Given the description of an element on the screen output the (x, y) to click on. 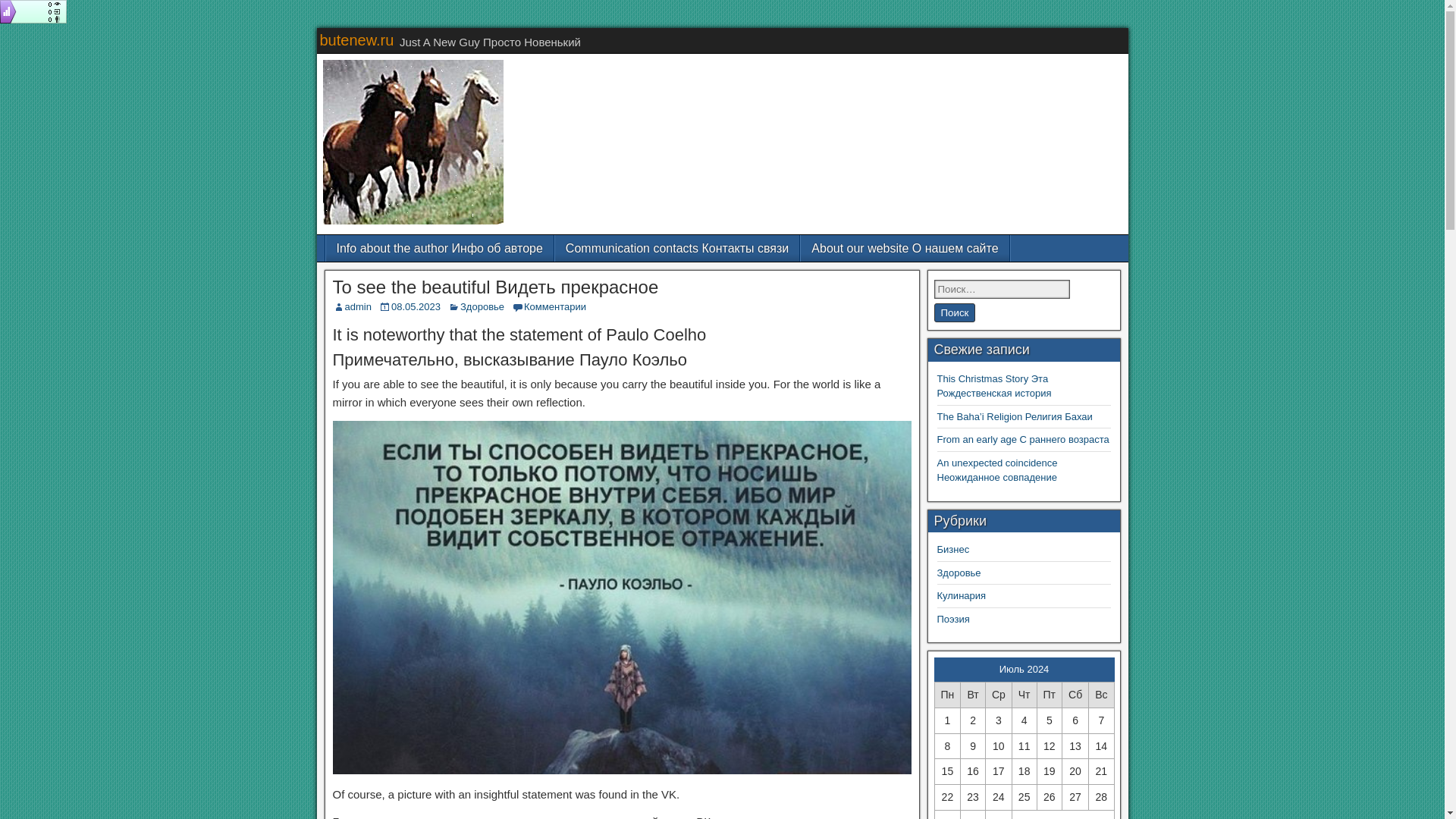
butenew.ru (357, 39)
08.05.2023 (416, 306)
admin (357, 306)
